Given the description of an element on the screen output the (x, y) to click on. 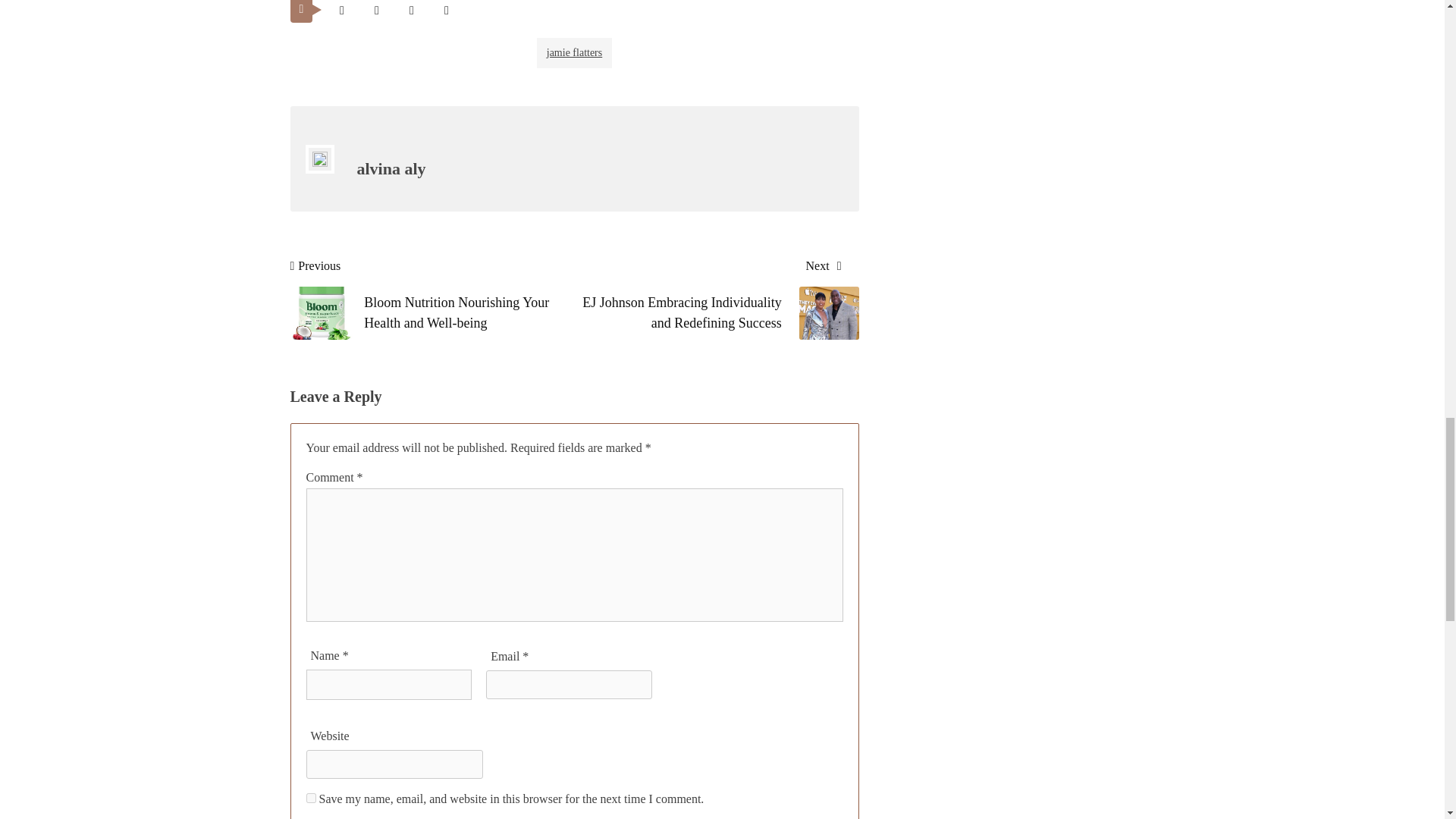
Share on Pinterest (411, 11)
Tweet This! (342, 11)
Share on Facebook (376, 11)
yes (310, 798)
jamie flatters (574, 52)
Share on Linkedin (446, 11)
